Given the description of an element on the screen output the (x, y) to click on. 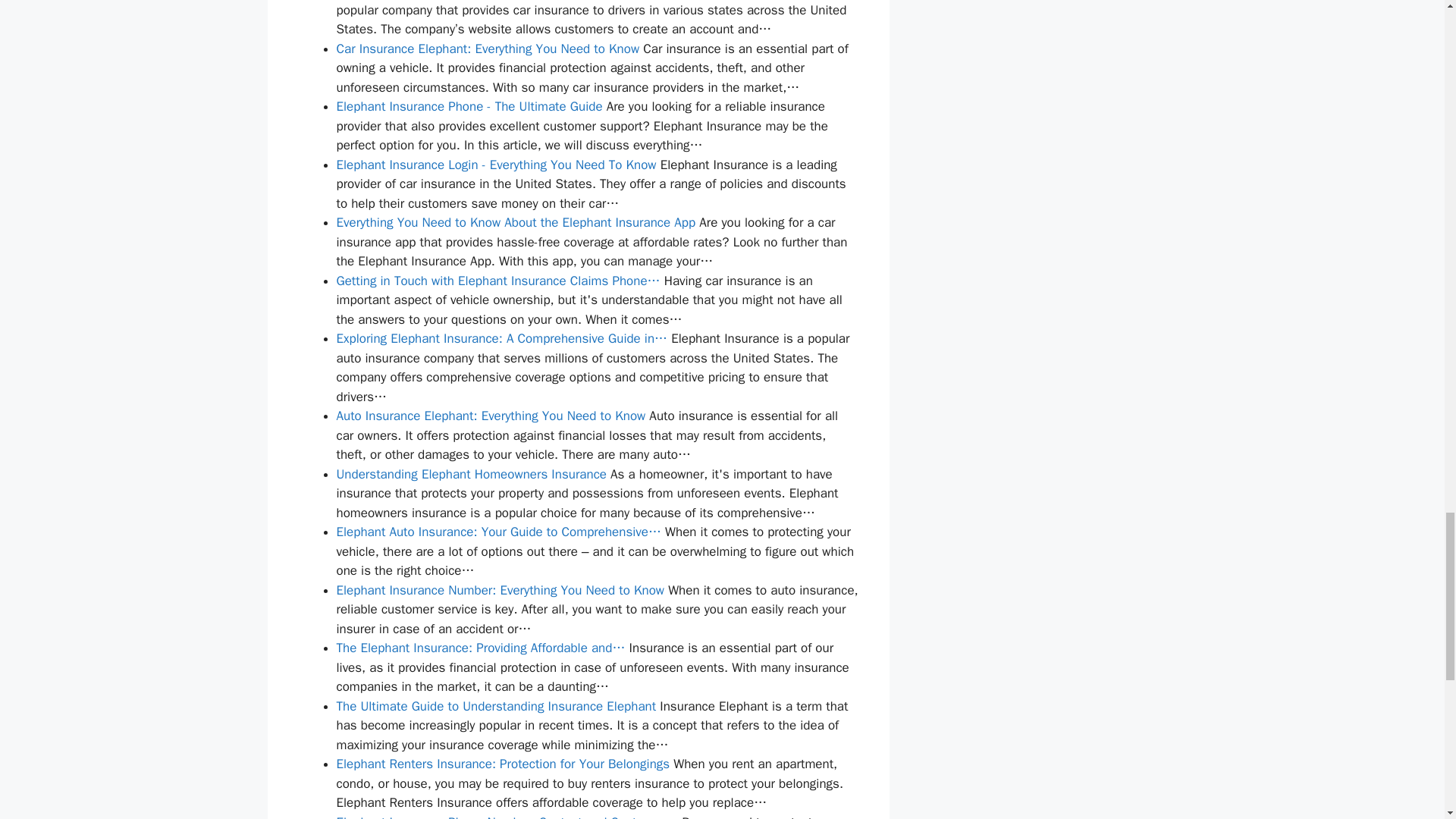
Everything You Need to Know About the Elephant Insurance App (515, 222)
The Ultimate Guide to Understanding Insurance Elephant (496, 706)
Elephant Insurance Login - Everything You Need To Know (496, 164)
Auto Insurance Elephant: Everything You Need to Know (491, 415)
Elephant Insurance Number: Everything You Need to Know (500, 590)
Car Insurance Elephant: Everything You Need to Know (488, 48)
Elephant Renters Insurance: Protection for Your Belongings (502, 763)
Understanding Elephant Homeowners Insurance (471, 474)
Elephant Insurance Phone - The Ultimate Guide (469, 106)
